Given the description of an element on the screen output the (x, y) to click on. 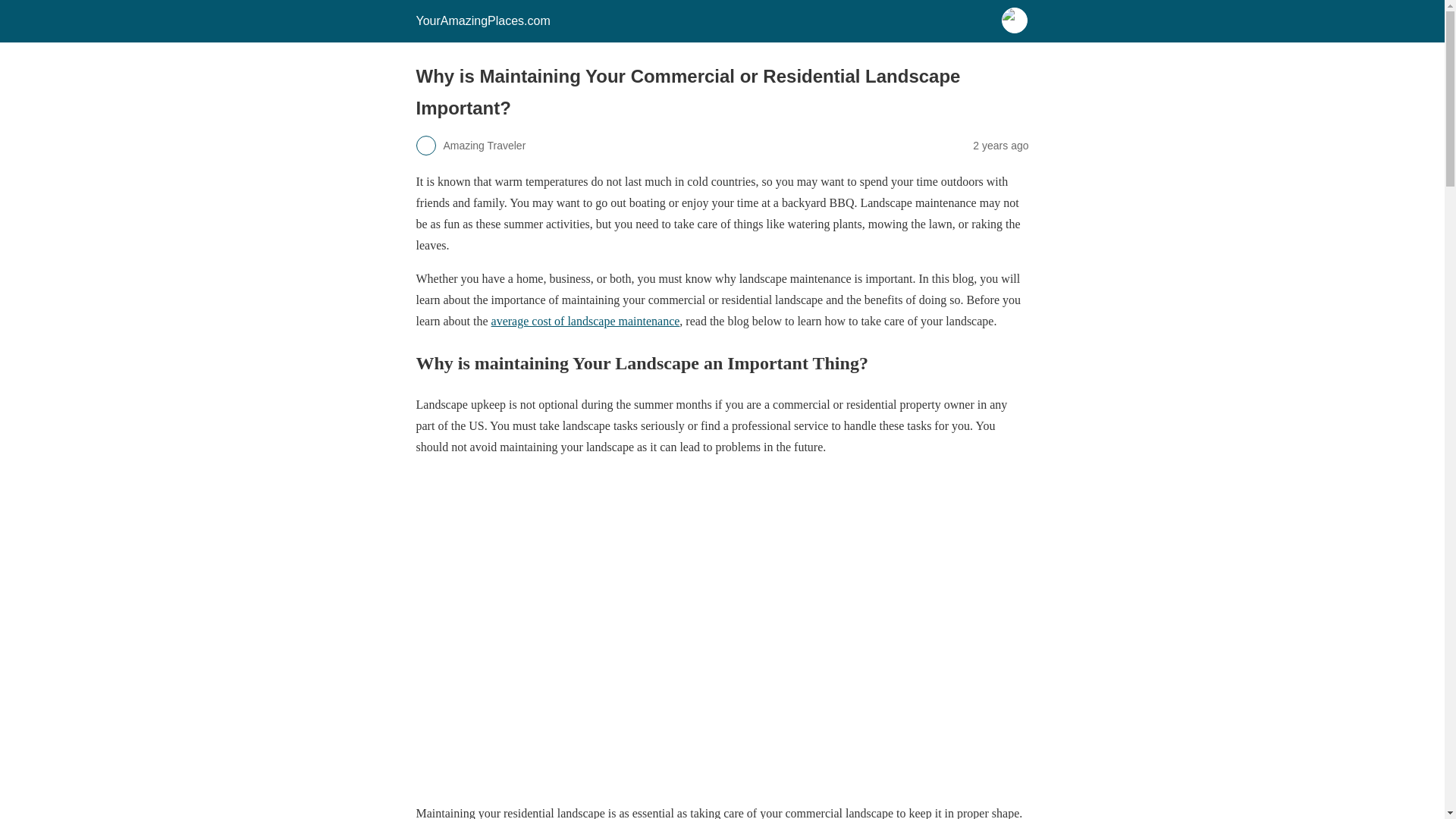
average cost of landscape maintenance (585, 320)
YourAmazingPlaces.com (482, 20)
